Given the description of an element on the screen output the (x, y) to click on. 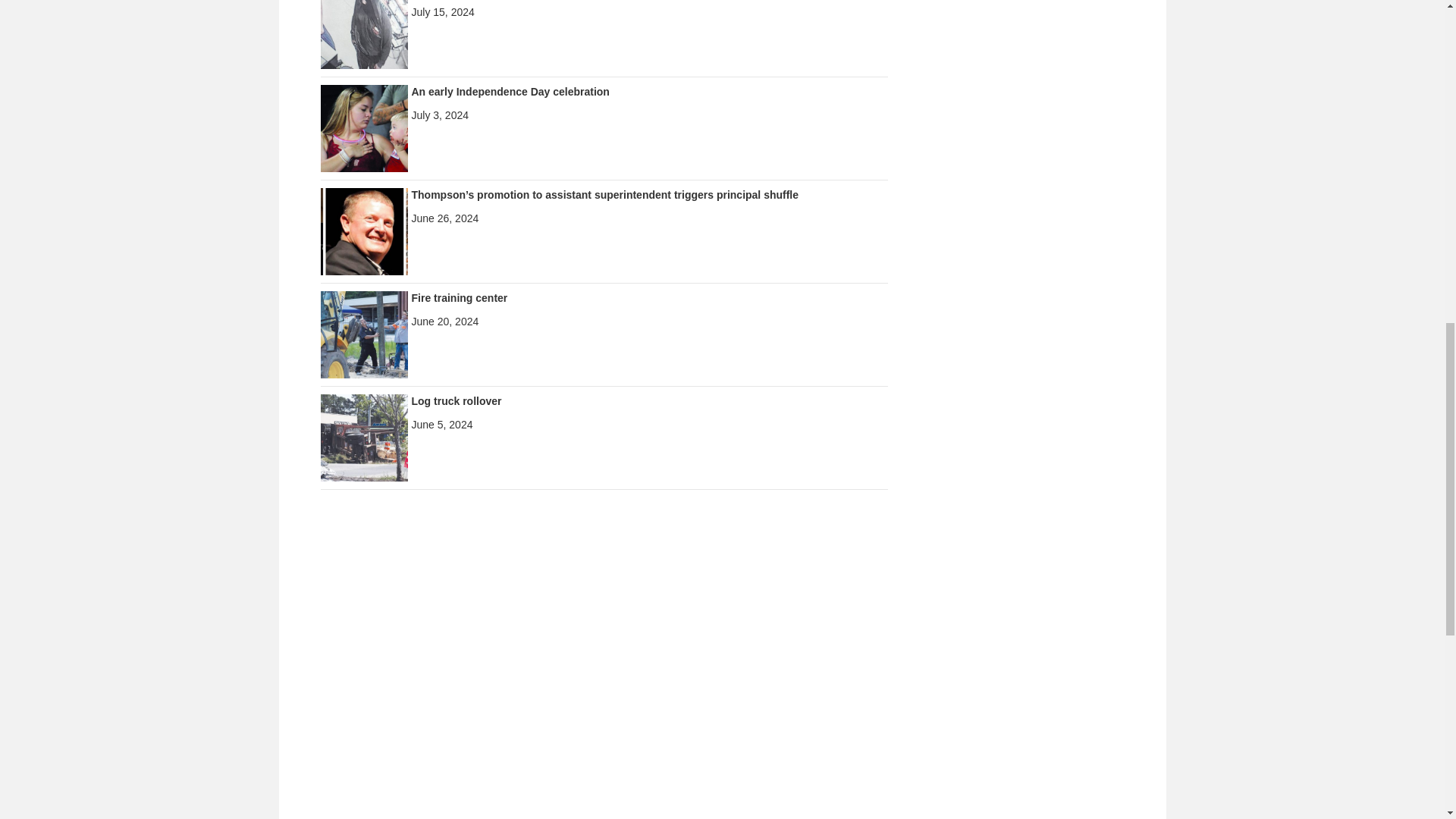
An early Independence Day celebration (509, 91)
Log truck rollover (455, 400)
Fire training center (458, 297)
Log truck rollover (363, 436)
An early Independence Day celebration (363, 127)
Police ask for help to ID DG armed robbery suspect (363, 24)
Fire training center (363, 333)
